Given the description of an element on the screen output the (x, y) to click on. 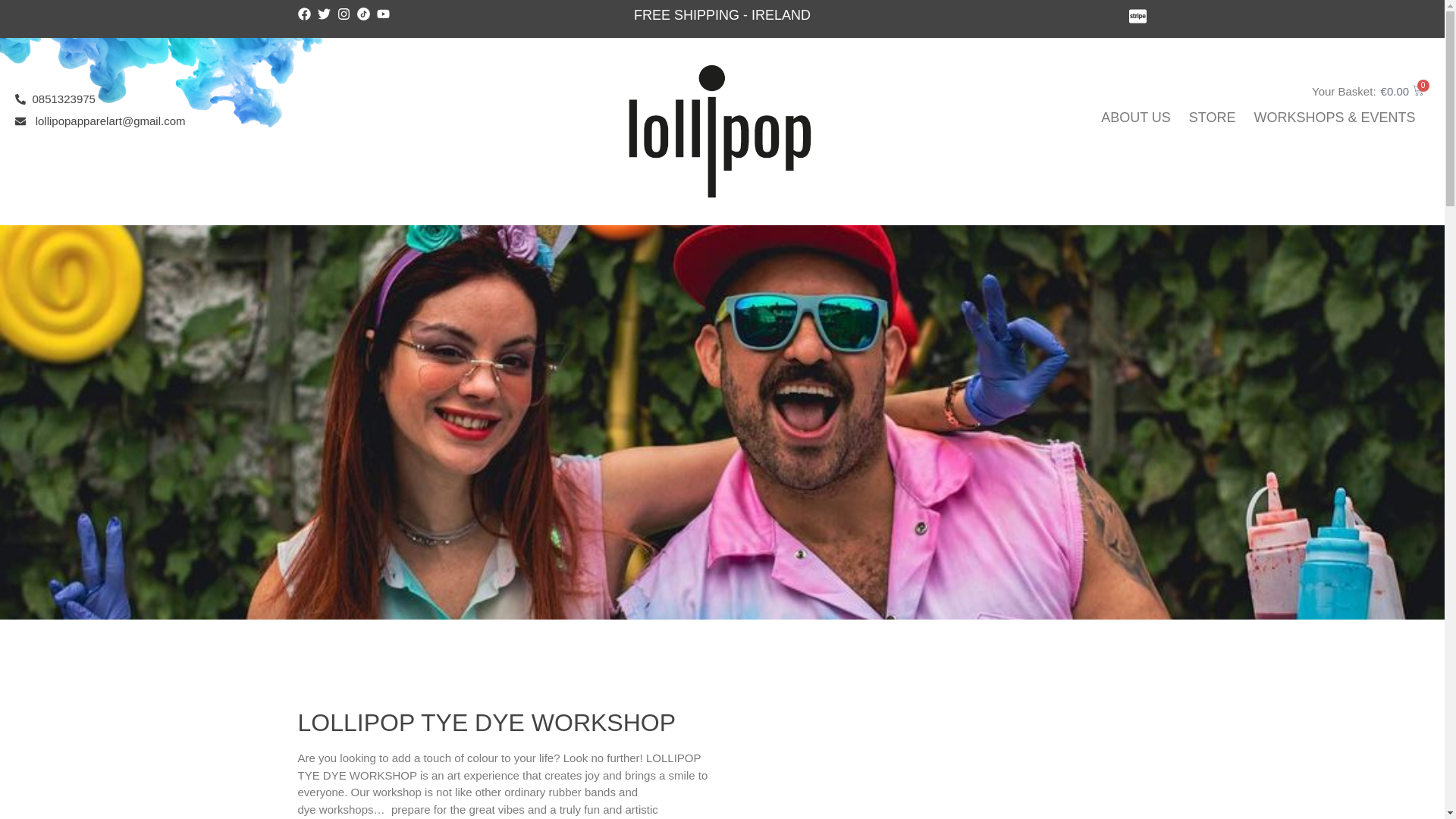
0851323975 (288, 99)
ABOUT US (1135, 117)
STORE (1211, 117)
